Given the description of an element on the screen output the (x, y) to click on. 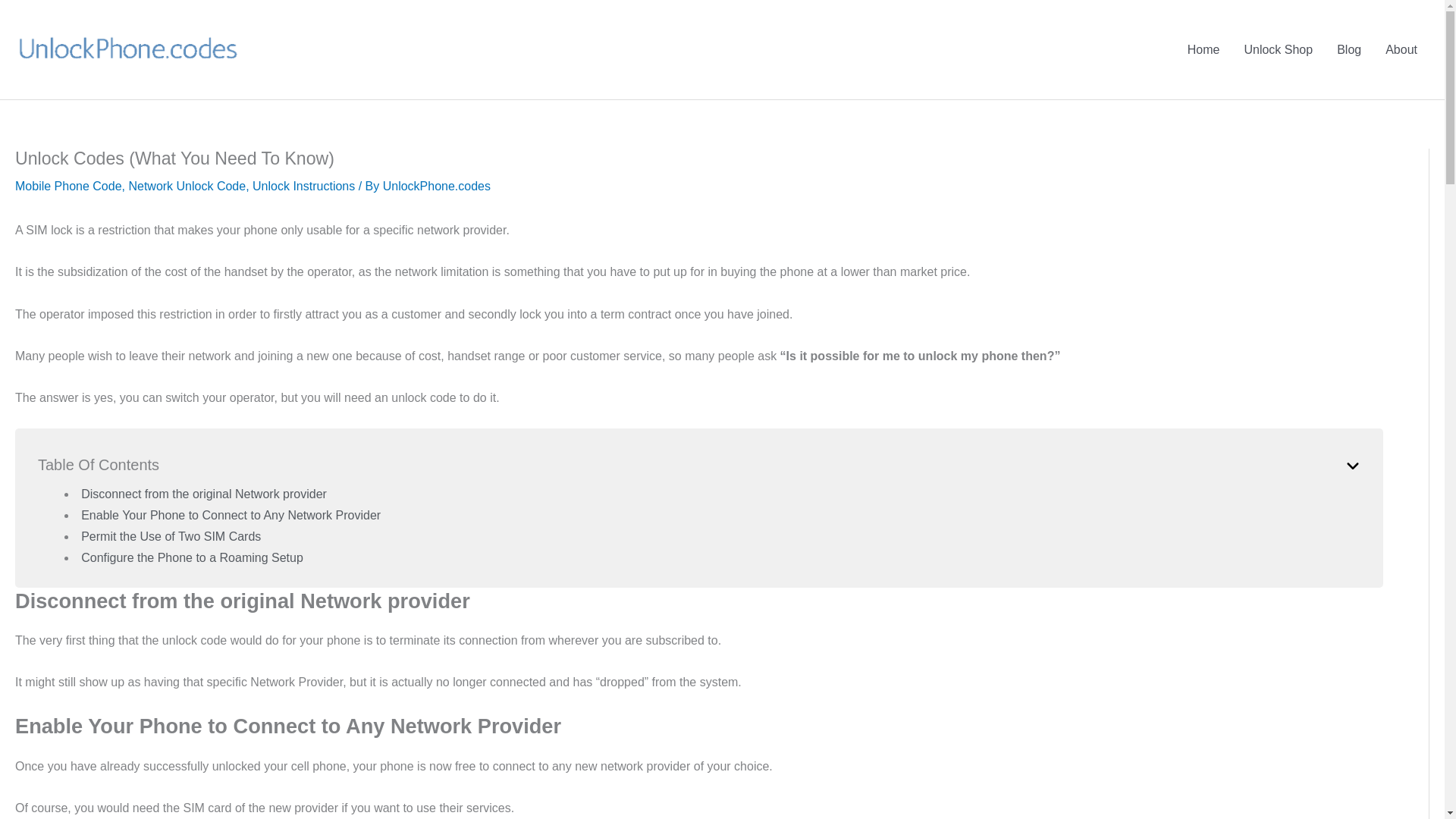
Mobile Phone Code (68, 185)
Unlock Instructions (303, 185)
Network Unlock Code (187, 185)
Permit the Use of Two SIM Cards (170, 535)
UnlockPhone.codes (436, 185)
Configure the Phone to a Roaming Setup (191, 557)
Enable Your Phone to Connect to Any Network Provider (230, 514)
Disconnect from the original Network provider (203, 493)
Unlock Shop (1277, 49)
View all posts by UnlockPhone.codes (436, 185)
